Given the description of an element on the screen output the (x, y) to click on. 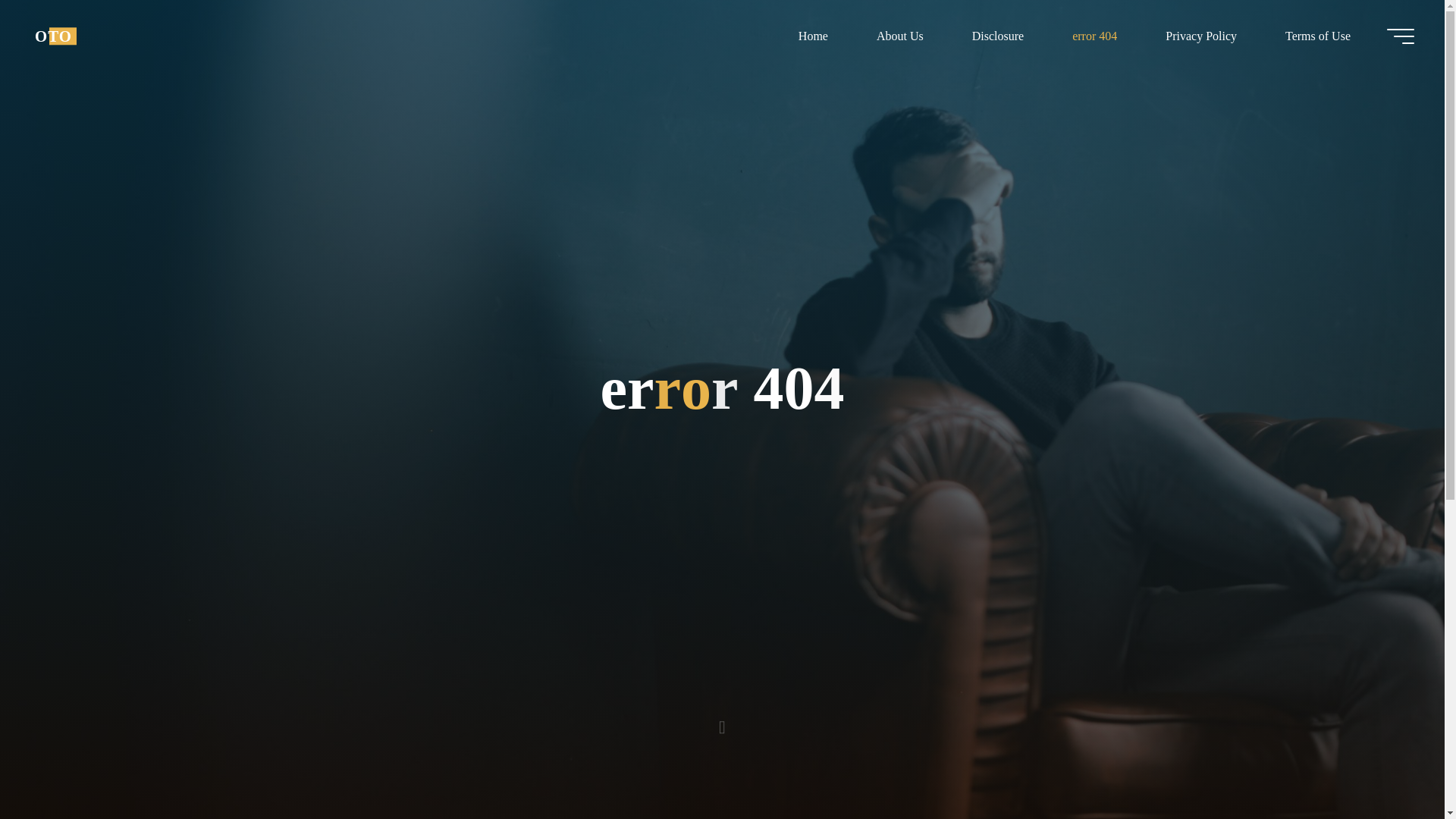
About Us (899, 35)
Privacy Policy (1200, 35)
error 404 (1094, 35)
OTO (53, 36)
Read more (721, 724)
Terms of Use (1317, 35)
Home (812, 35)
Disclosure (997, 35)
